Given the description of an element on the screen output the (x, y) to click on. 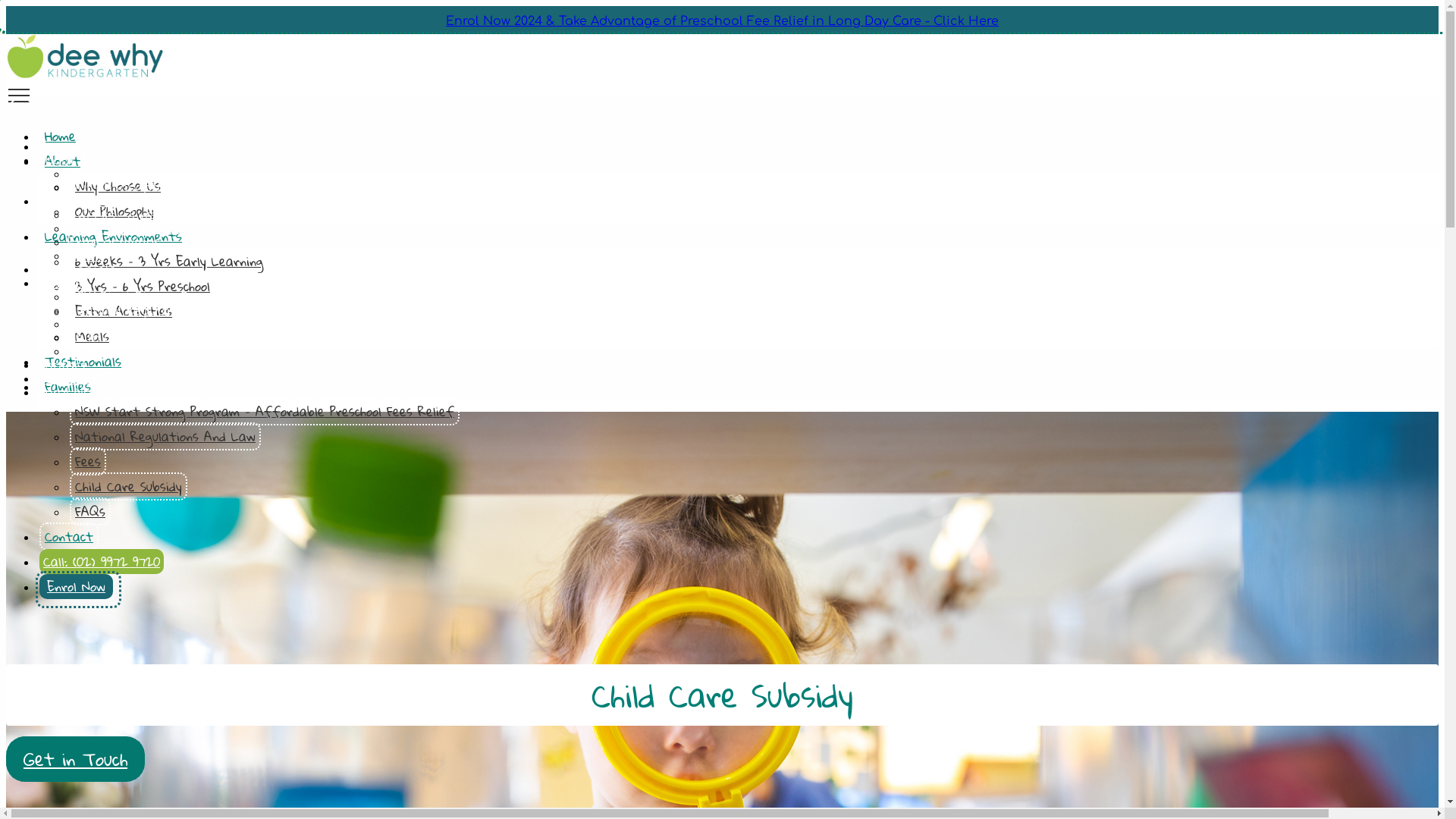
Fees Element type: text (87, 461)
Testimonials Element type: text (76, 269)
Extra activities Element type: text (113, 242)
Fees Element type: text (81, 324)
National Regulations and Law Element type: text (162, 310)
Enrol Now Element type: text (75, 586)
FAQs Element type: text (82, 351)
About Element type: text (55, 160)
Extra Activities Element type: text (123, 311)
Call: (02) 9972 9720 Element type: text (92, 378)
Learning Environments Element type: text (110, 201)
Get in Touch Element type: text (75, 758)
Contact Element type: text (68, 536)
Why Choose Us Element type: text (116, 174)
Our philosophy Element type: text (116, 187)
Why Choose Us Element type: text (117, 186)
About Element type: text (62, 161)
Child Care Subsidy Element type: text (126, 338)
Contact Element type: text (61, 365)
Meals Element type: text (91, 336)
Child Care Subsidy Element type: text (128, 486)
Call: (02) 9972 9720 Element type: text (101, 561)
Home Element type: text (60, 136)
FAQs Element type: text (89, 511)
Our Philosophy Element type: text (114, 211)
Home Element type: text (55, 146)
Learning Environments Element type: text (113, 236)
Enrol Now Element type: text (68, 392)
Families Element type: text (67, 386)
National Regulations And Law Element type: text (164, 436)
Meals Element type: text (85, 256)
Testimonials Element type: text (82, 361)
Families Element type: text (62, 283)
